Given the description of an element on the screen output the (x, y) to click on. 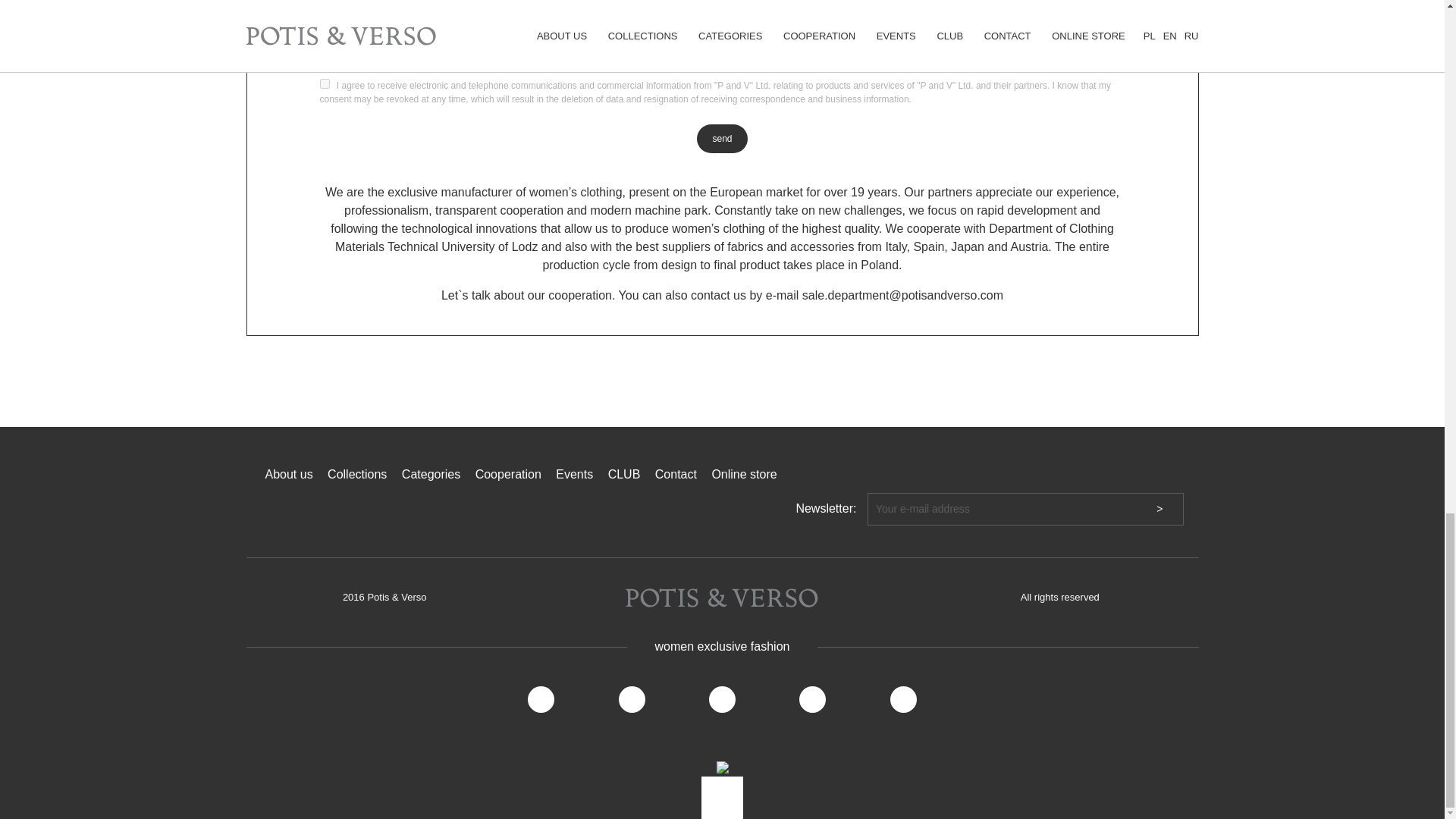
About us (288, 473)
Events (574, 473)
send (721, 138)
Categories (430, 473)
CLUB (624, 473)
Collections (357, 473)
Online store (743, 473)
Cooperation (508, 473)
Contact (676, 473)
on (325, 83)
